Given the description of an element on the screen output the (x, y) to click on. 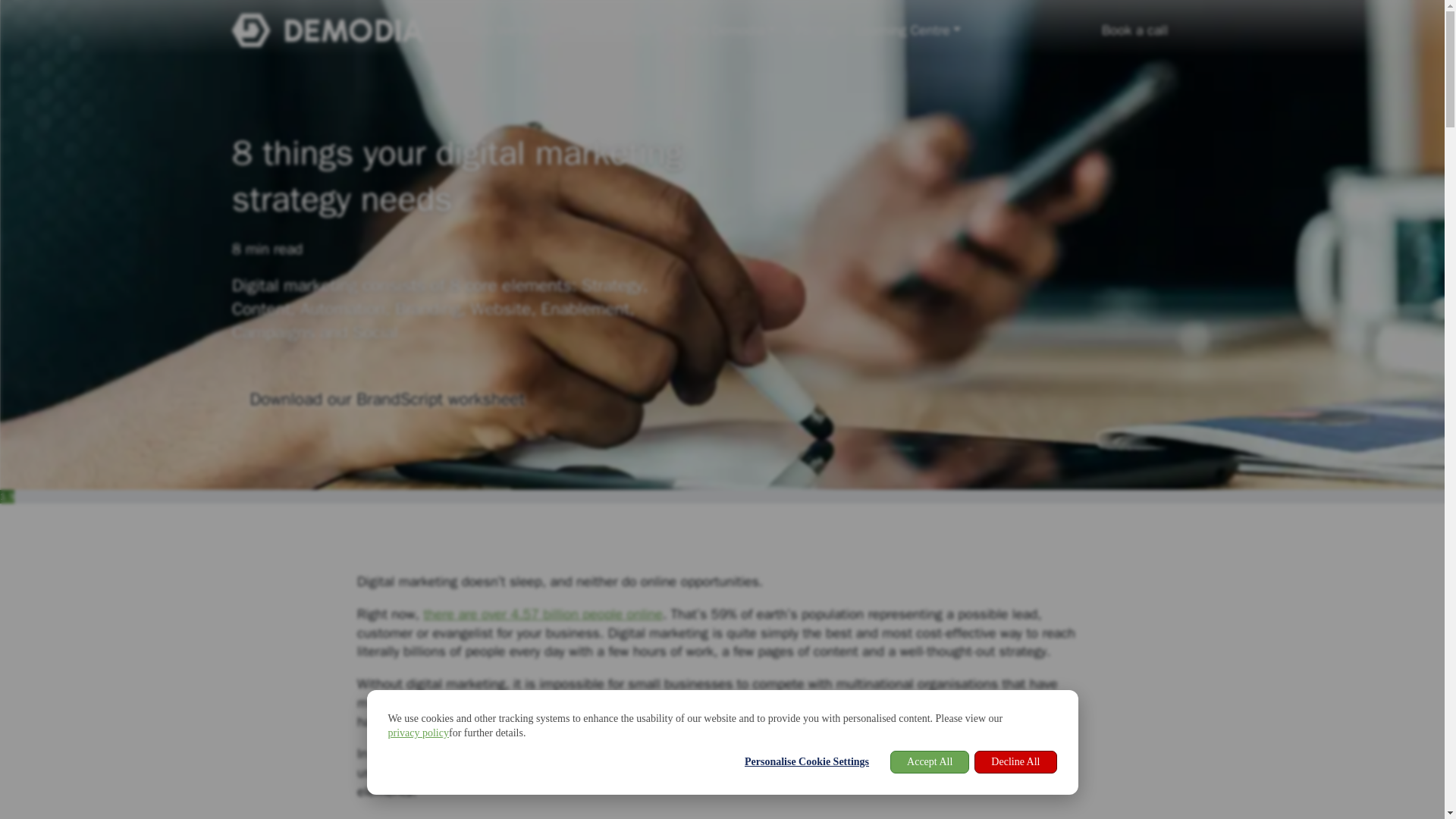
Why Demodia (730, 30)
Pricing (816, 30)
Who We Help (512, 30)
Download our BrandScript worksheet (386, 399)
What We Do (620, 30)
Book a call (1134, 30)
there are over 4.57 billion people online (542, 614)
Learning Centre (908, 30)
